Given the description of an element on the screen output the (x, y) to click on. 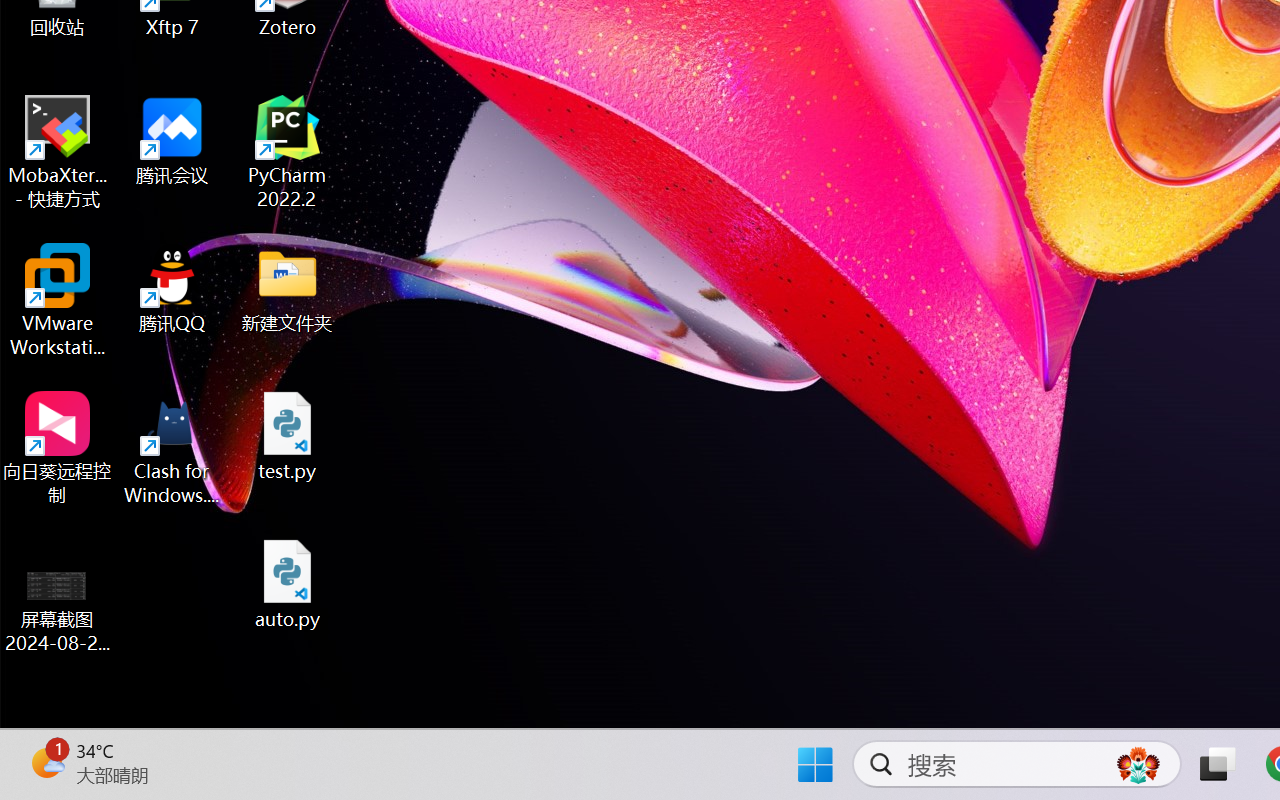
PyCharm 2022.2 (287, 152)
